Given the description of an element on the screen output the (x, y) to click on. 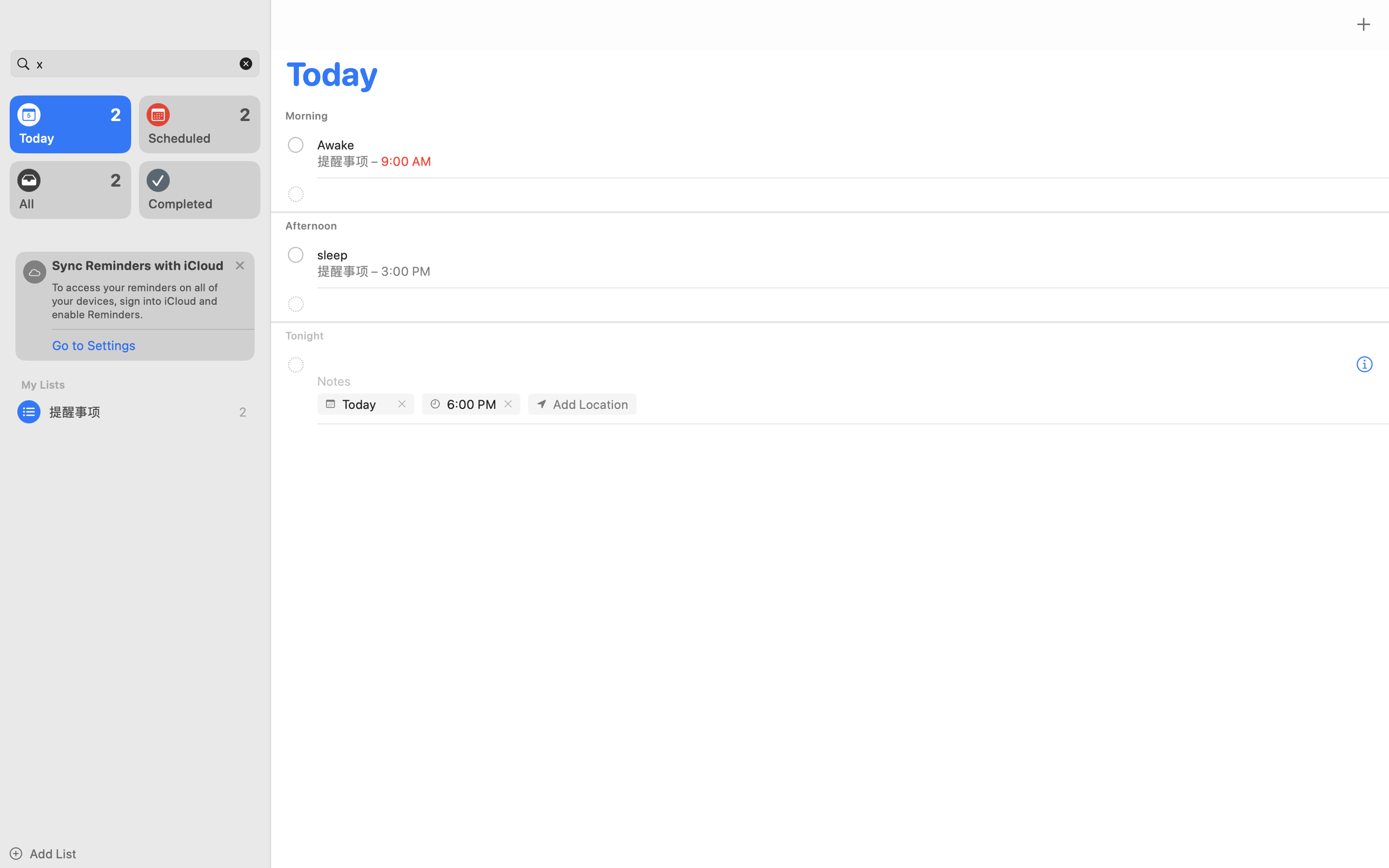
Mon Jun 8 Element type: AXStaticText (221, 857)
Sync Reminders with iCloud Element type: AXStaticText (137, 264)
Today Element type: AXTextField (366, 403)
6:00 PM Element type: AXTextField (471, 403)
提醒事项 – 9:00 AM Element type: AXStaticText (374, 160)
